Given the description of an element on the screen output the (x, y) to click on. 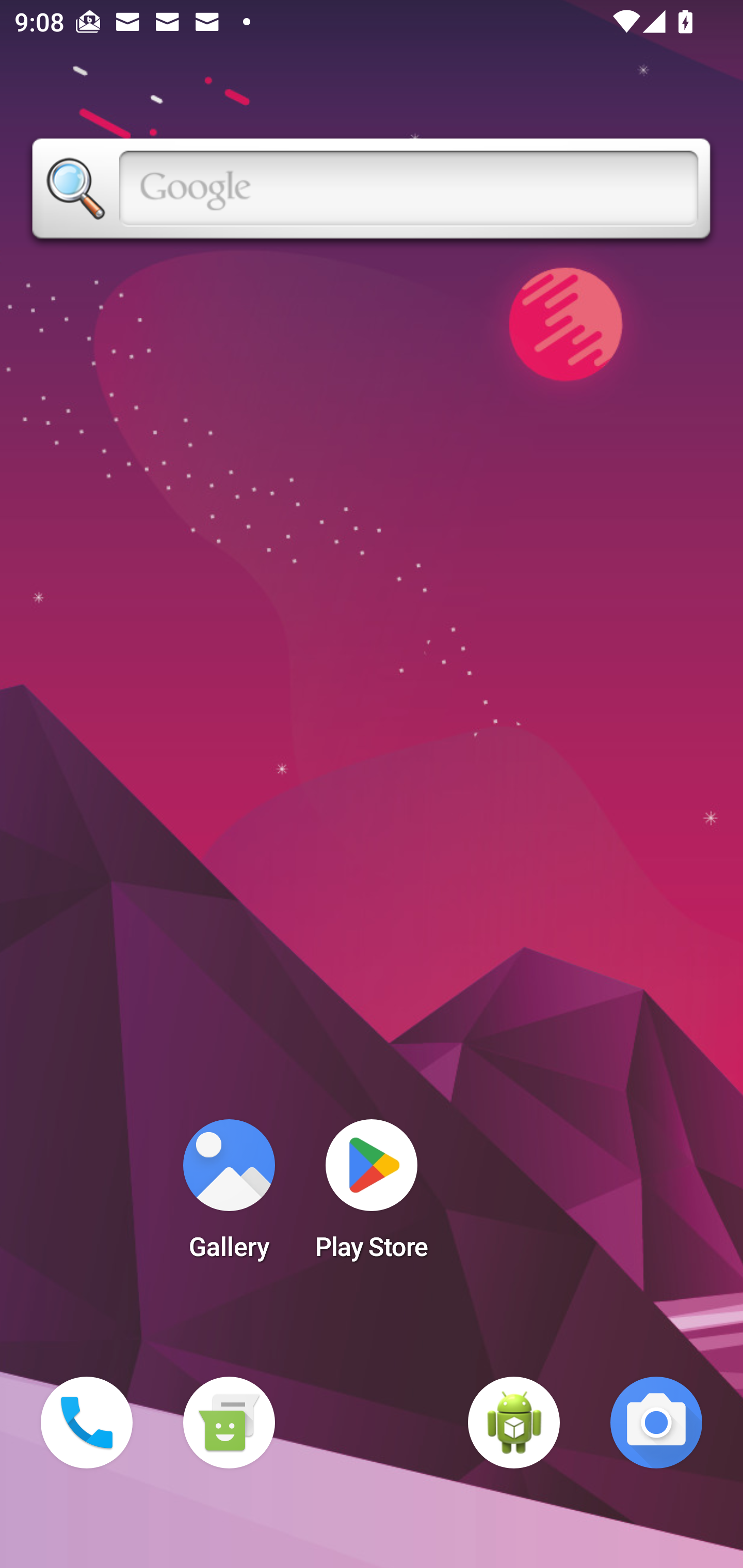
Gallery (228, 1195)
Play Store (371, 1195)
Phone (86, 1422)
Messaging (228, 1422)
WebView Browser Tester (513, 1422)
Camera (656, 1422)
